Given the description of an element on the screen output the (x, y) to click on. 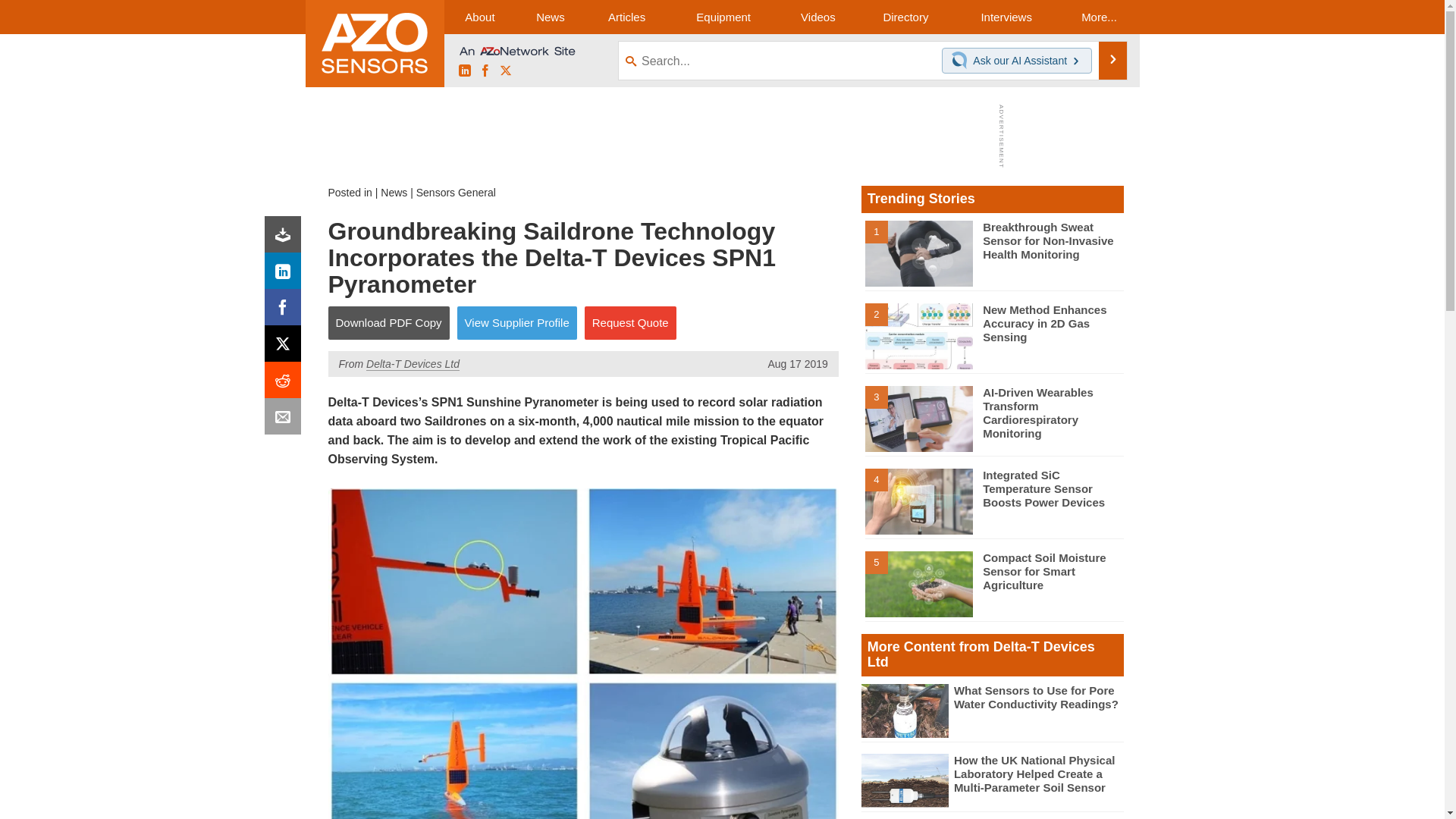
Interviews (1006, 17)
Facebook (485, 71)
About (479, 17)
Articles (626, 17)
X (505, 71)
Sensors General (456, 192)
More... (1098, 17)
Chat with our AI Assistant Ask our AI Assistant (1017, 60)
News (393, 192)
